Given the description of an element on the screen output the (x, y) to click on. 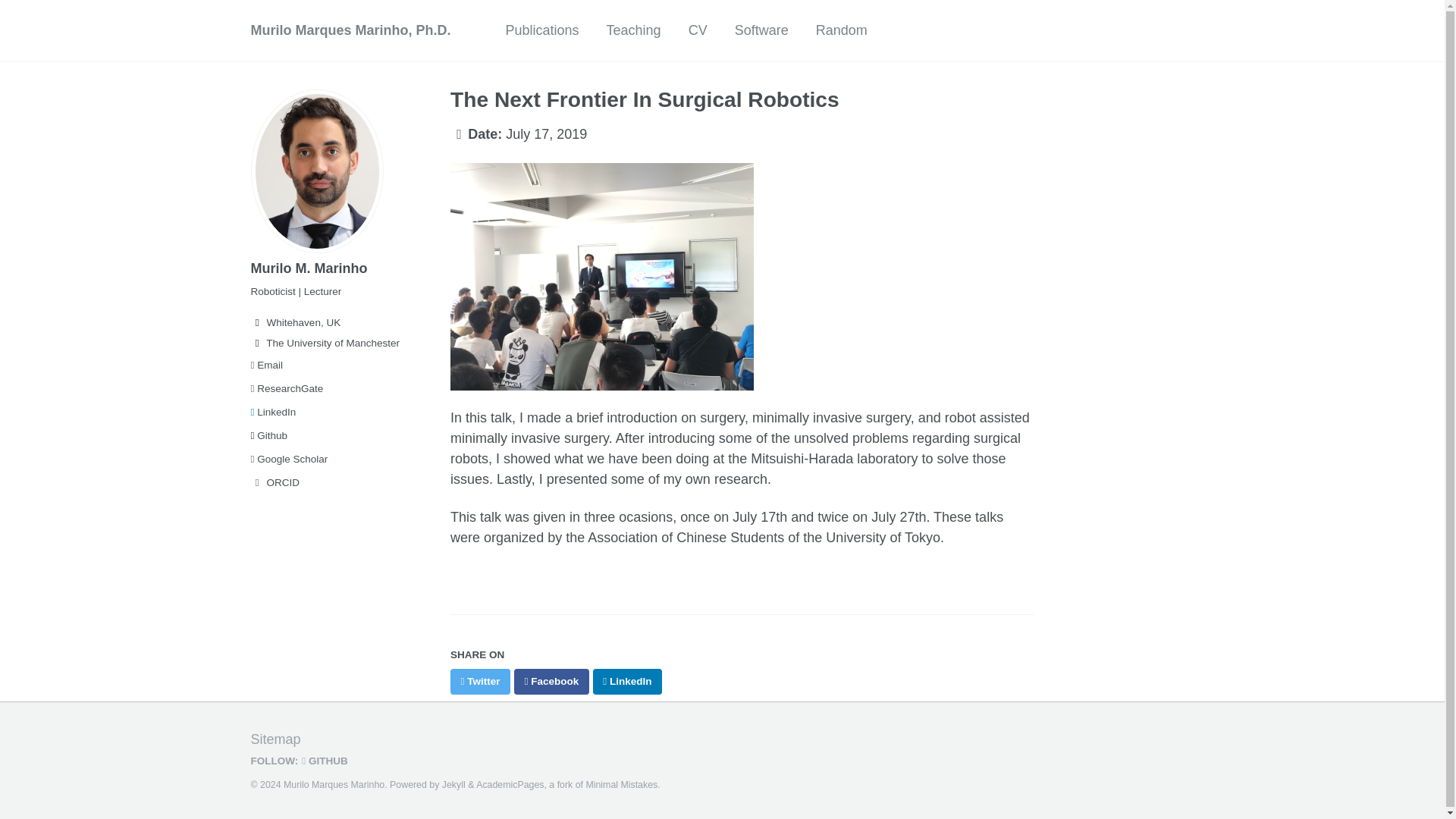
LinkedIn (322, 412)
Random (841, 30)
Jekyll (453, 784)
Github (322, 434)
Facebook (551, 681)
Twitter (480, 681)
Teaching (634, 30)
Share on Twitter (480, 681)
Software (762, 30)
ResearchGate (322, 388)
